Given the description of an element on the screen output the (x, y) to click on. 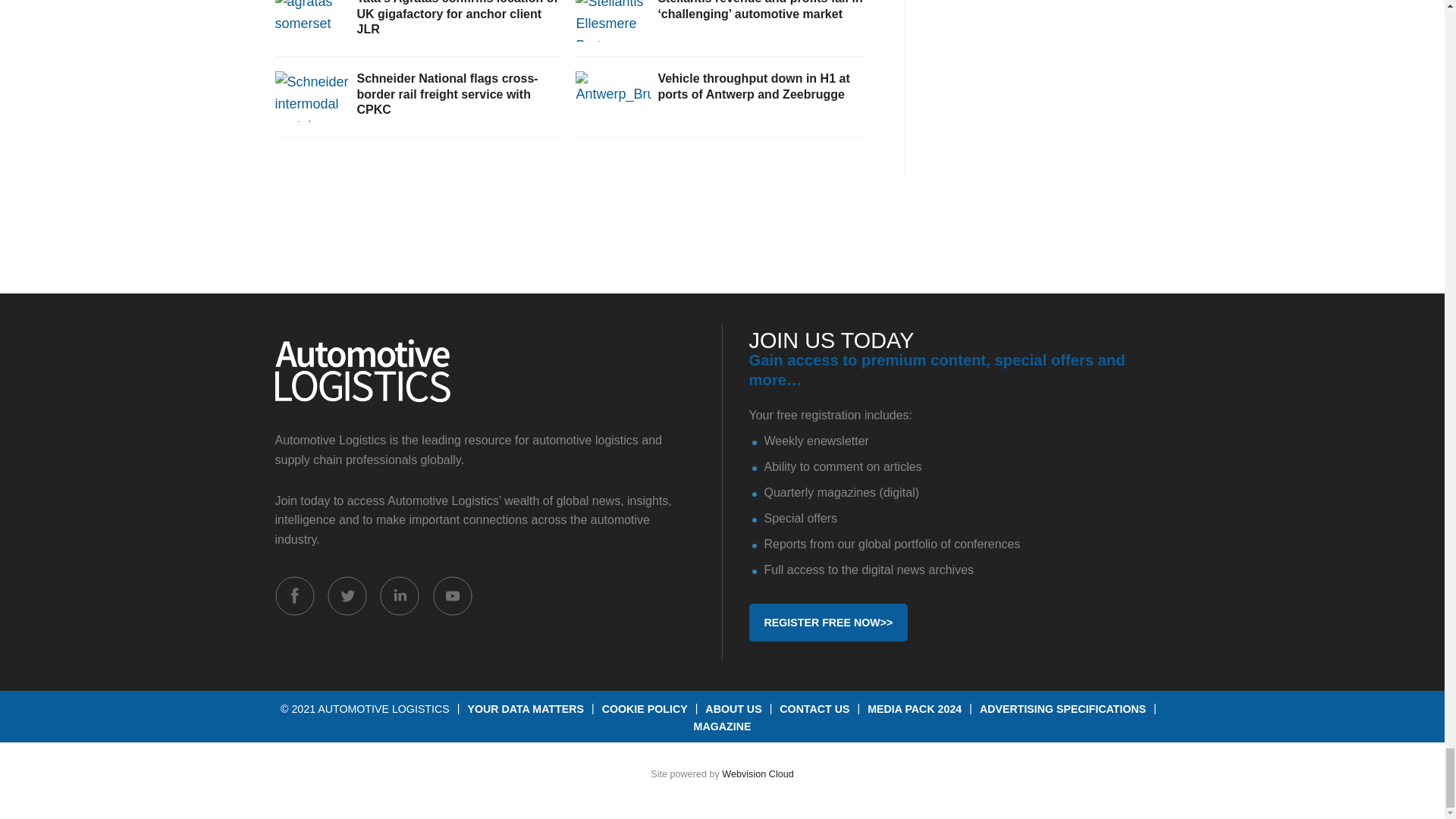
Connect with us on Twitter (346, 595)
Connect with us on Facebook (294, 595)
Connect with us on Youtube (451, 595)
Connect with us on Linked In (399, 595)
